Given the description of an element on the screen output the (x, y) to click on. 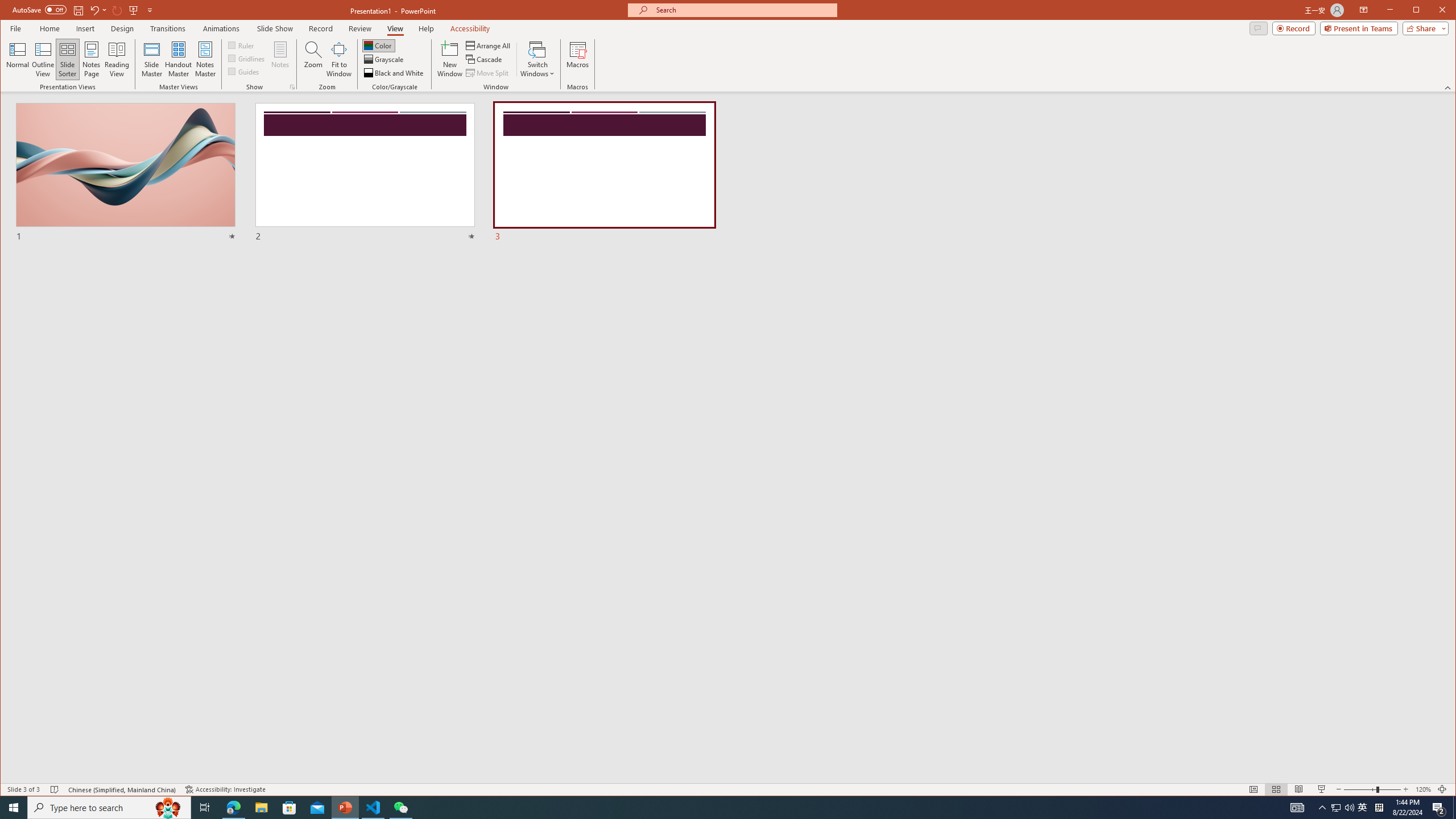
Notes Page (91, 59)
WeChat - 1 running window (400, 807)
Handout Master (178, 59)
Fit to Window (338, 59)
